Given the description of an element on the screen output the (x, y) to click on. 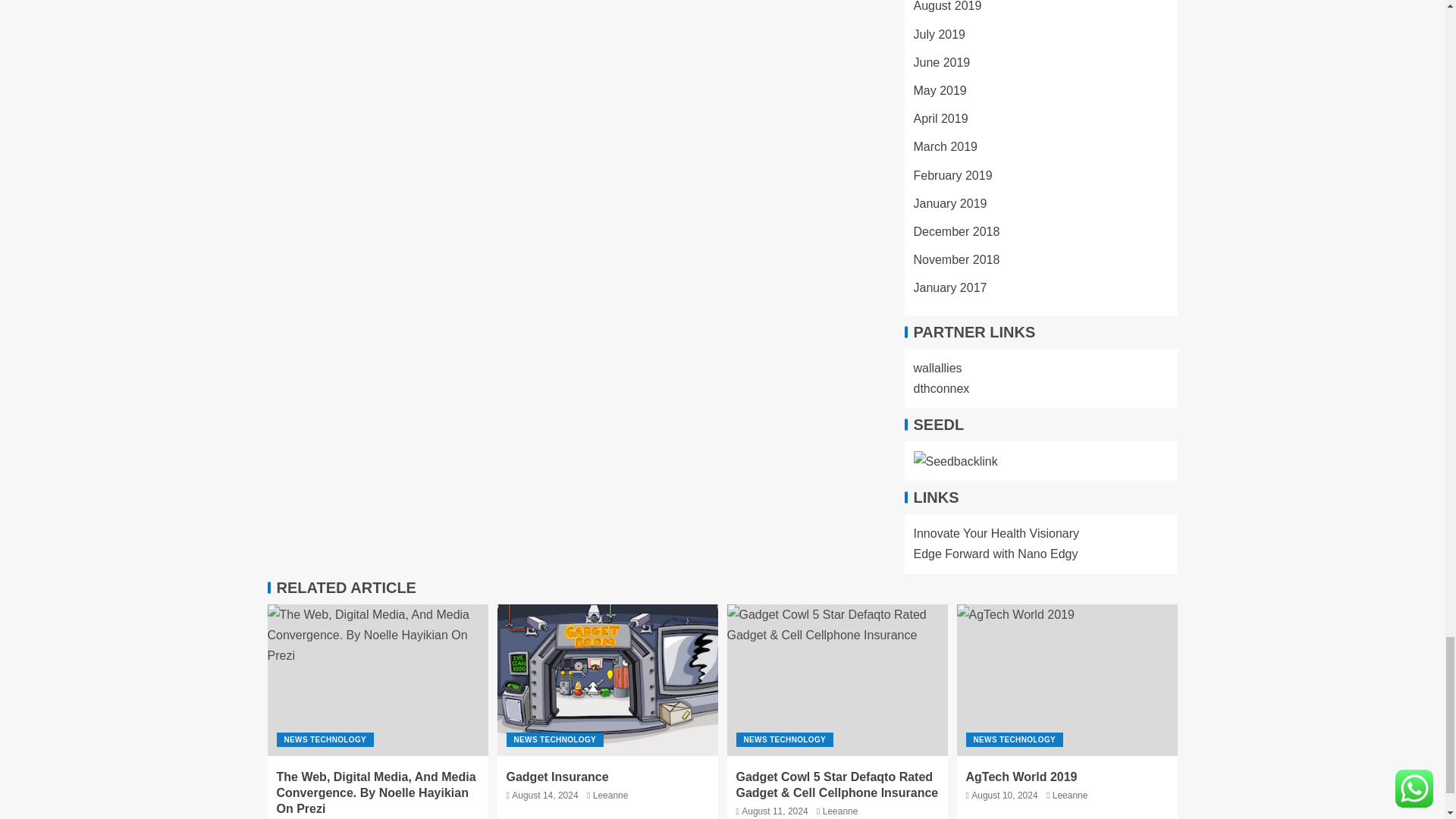
Gadget Insurance (607, 679)
Seedbacklink (954, 461)
